Given the description of an element on the screen output the (x, y) to click on. 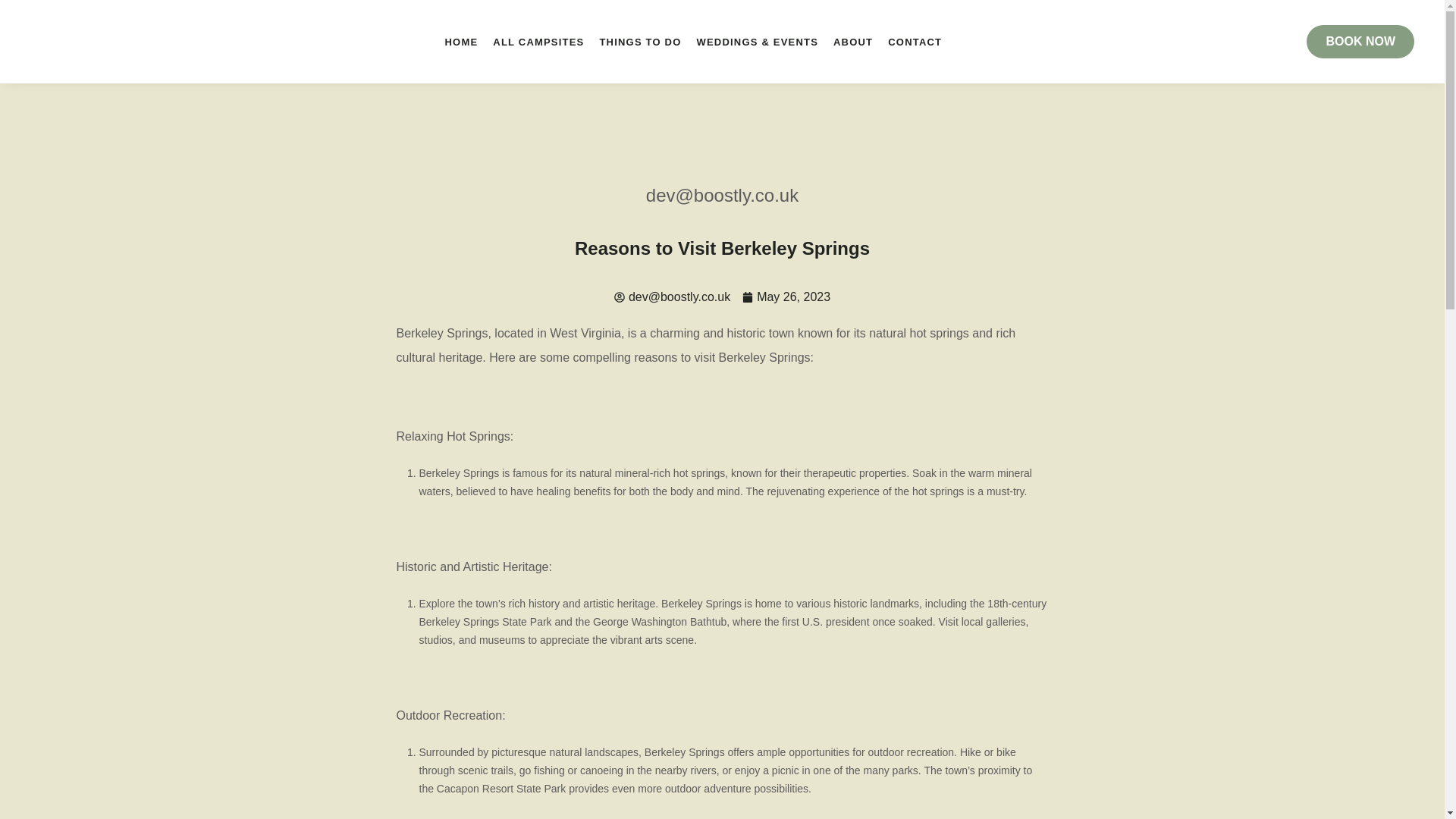
BOOK NOW (1359, 41)
ABOUT (852, 40)
ALL CAMPSITES (538, 40)
CONTACT (915, 40)
May 26, 2023 (785, 297)
THINGS TO DO (639, 40)
HOME (462, 40)
